Given the description of an element on the screen output the (x, y) to click on. 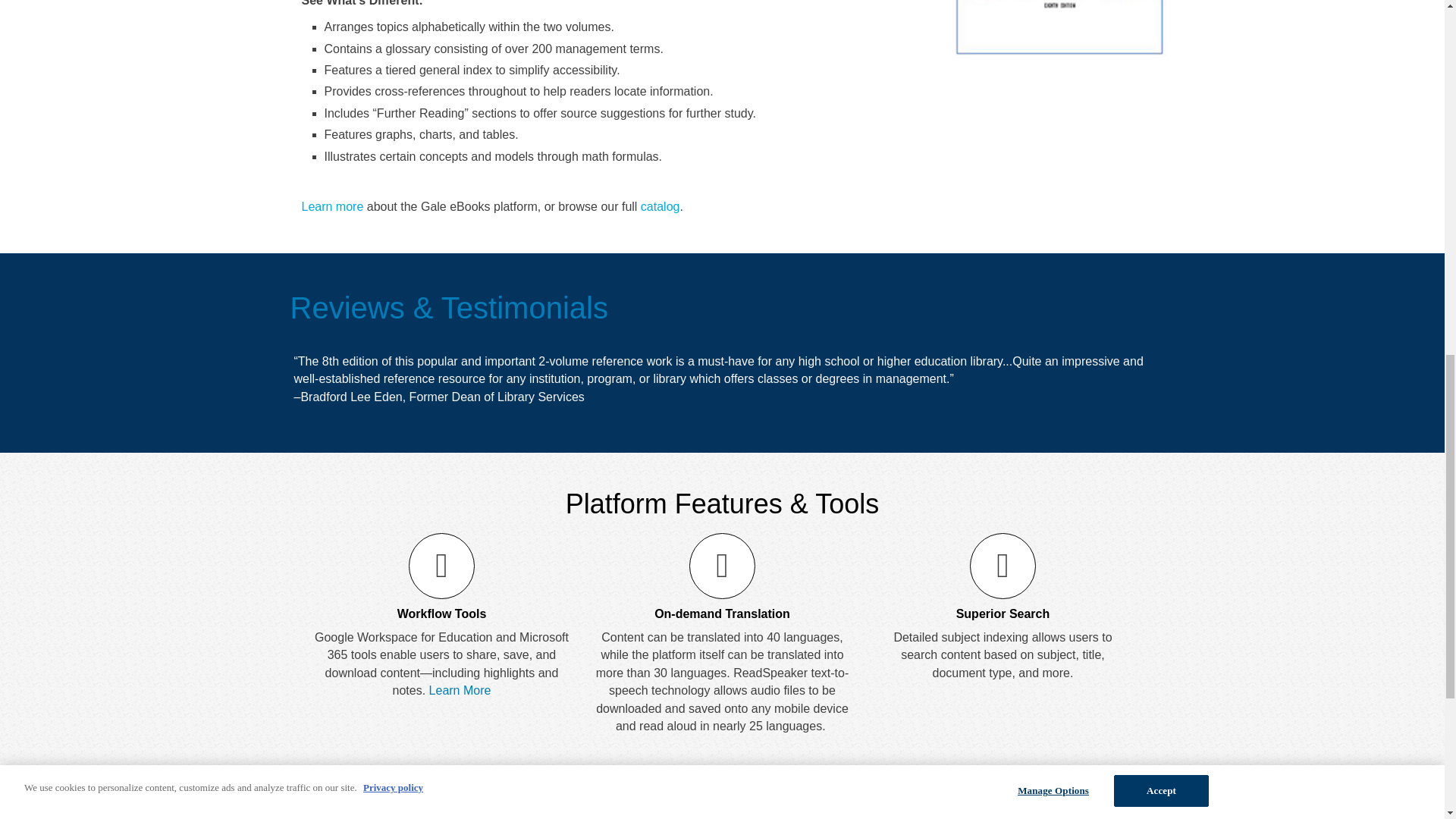
Top of page (1123, 804)
Top of page (1123, 804)
